Given the description of an element on the screen output the (x, y) to click on. 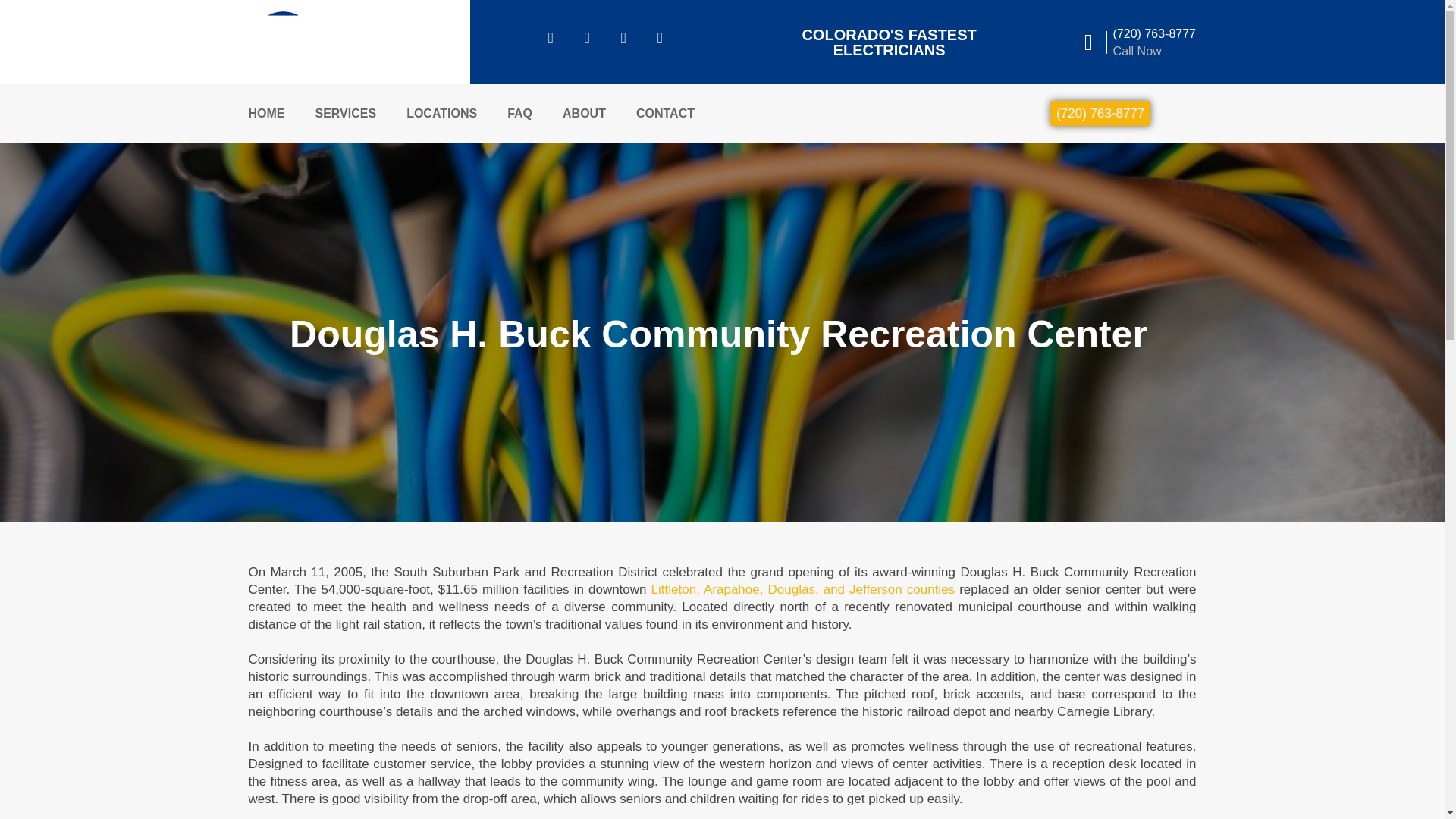
FAQ (519, 113)
LOCATIONS (441, 113)
SERVICES (346, 113)
ABOUT (583, 113)
HOME (266, 113)
CONTACT (665, 113)
